Given the description of an element on the screen output the (x, y) to click on. 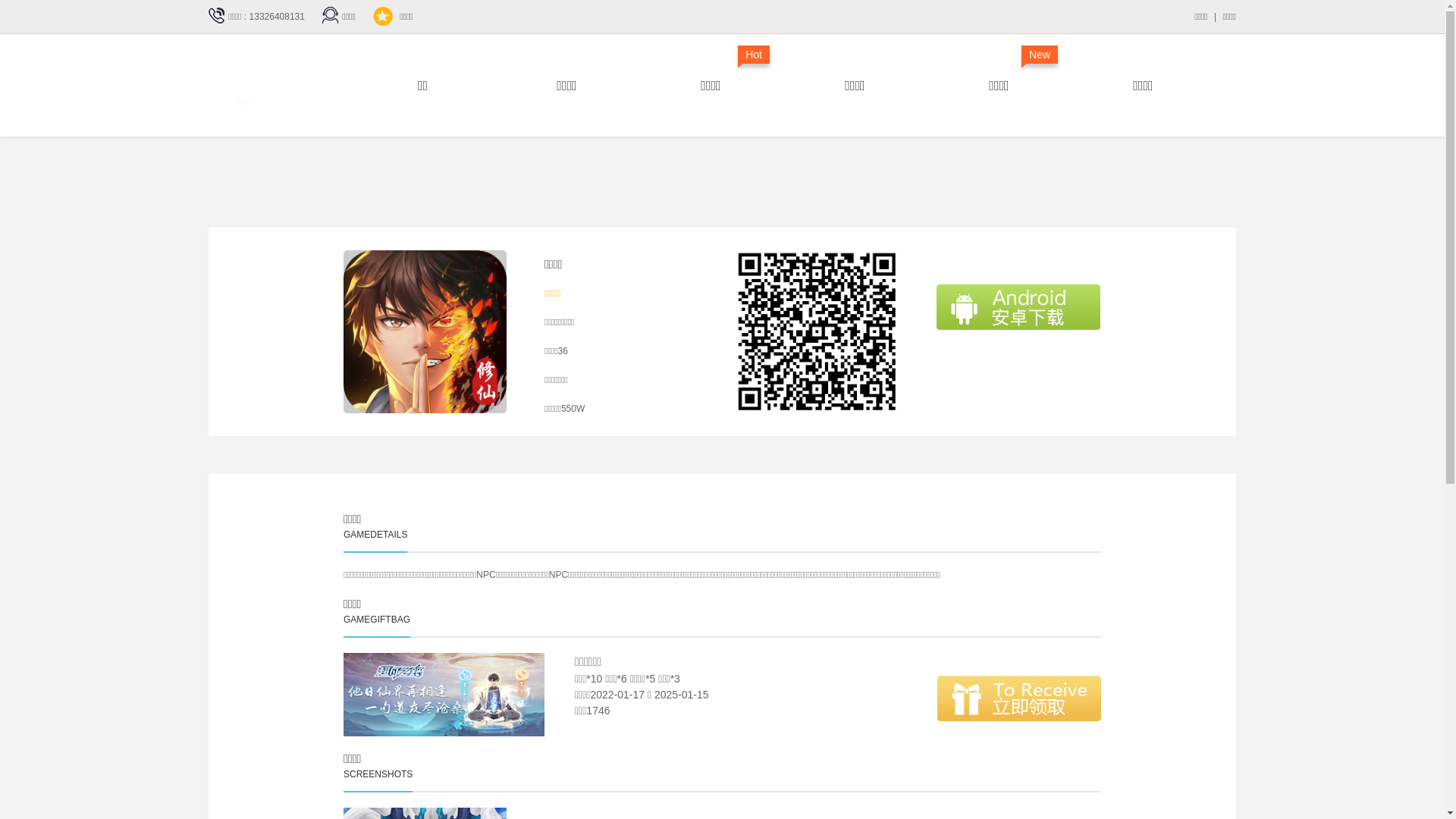
350 Element type: hover (282, 85)
